Given the description of an element on the screen output the (x, y) to click on. 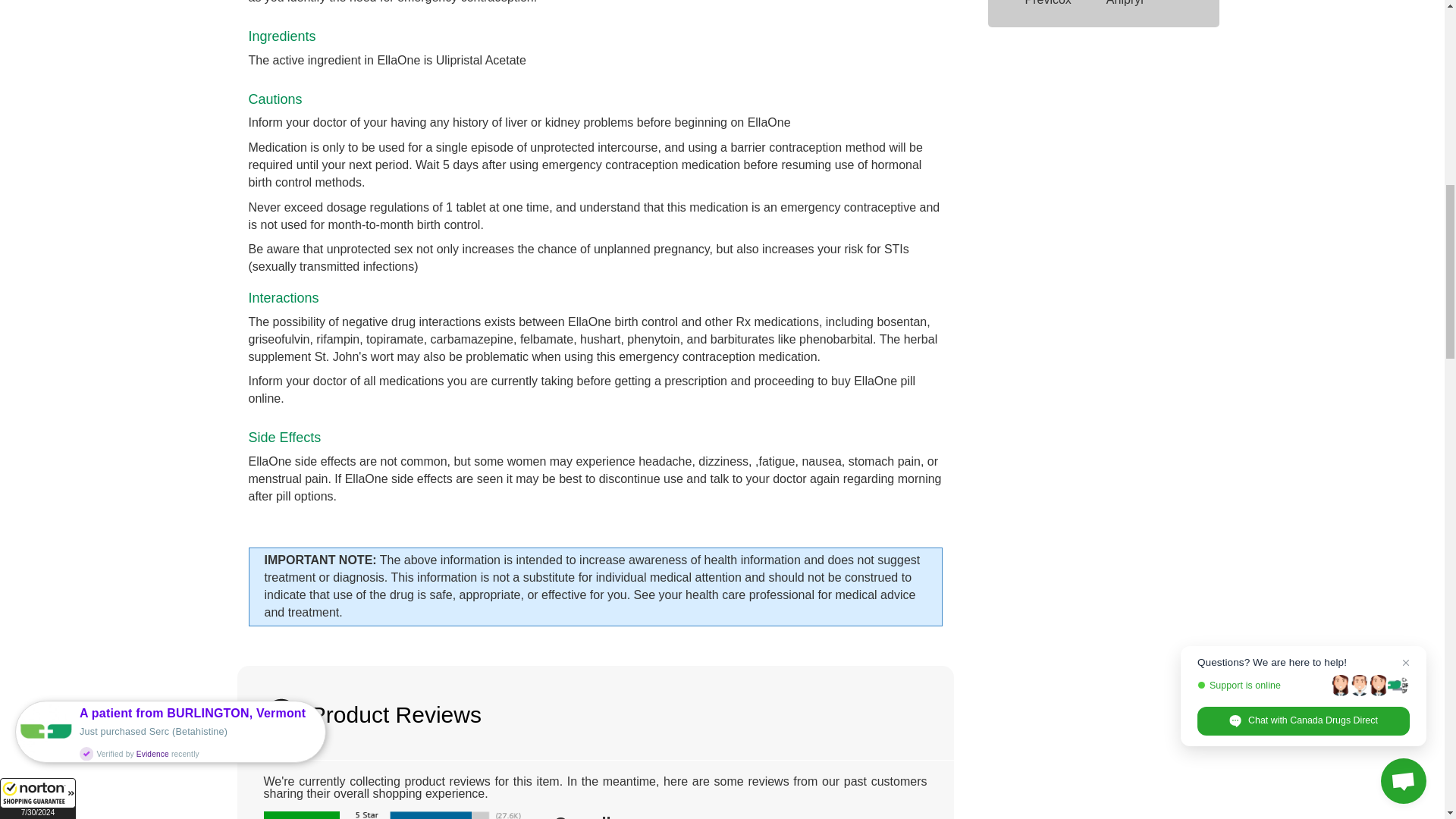
Product Reviews (594, 712)
